Given the description of an element on the screen output the (x, y) to click on. 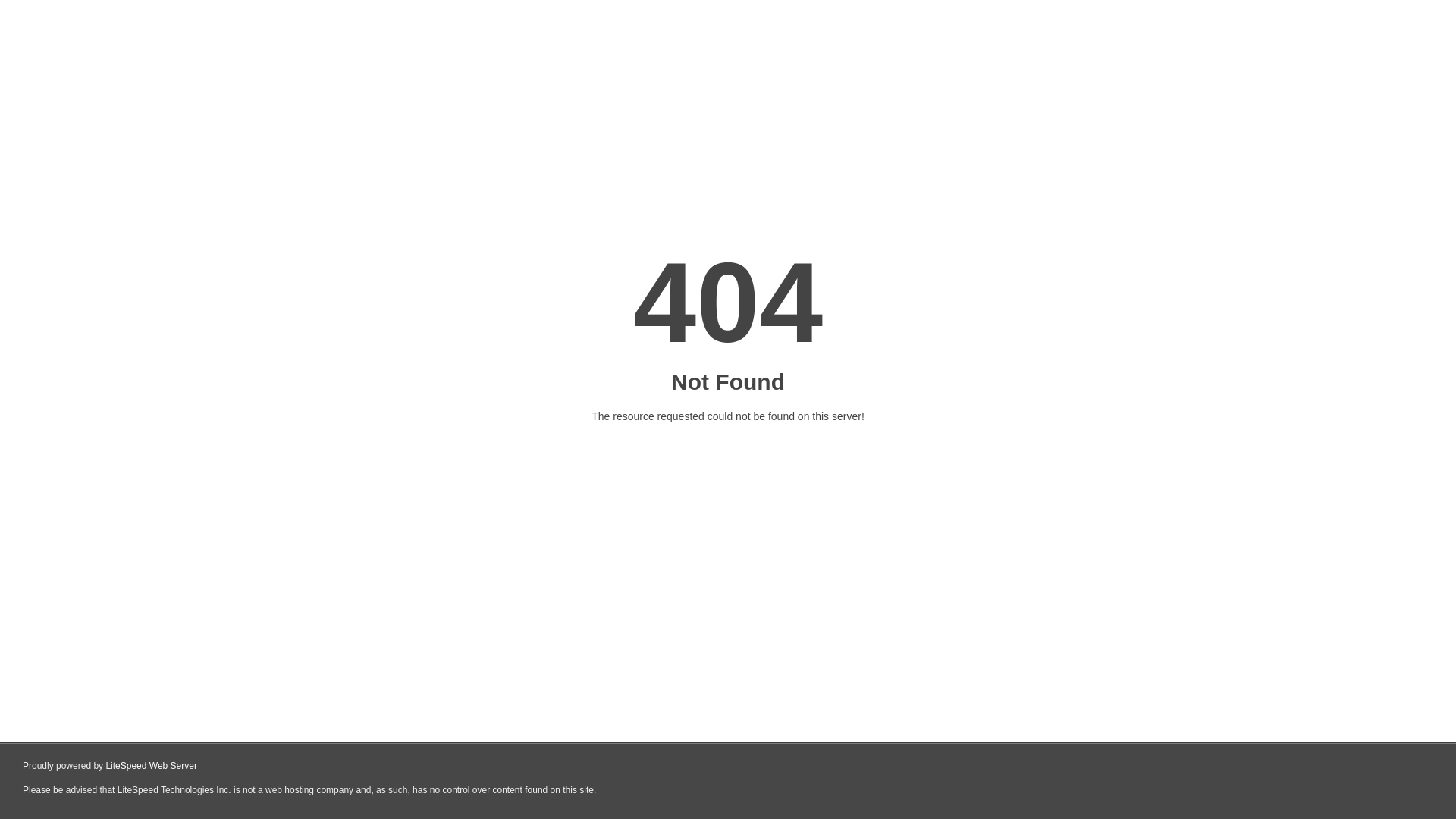
LiteSpeed Web Server Element type: text (151, 765)
